Given the description of an element on the screen output the (x, y) to click on. 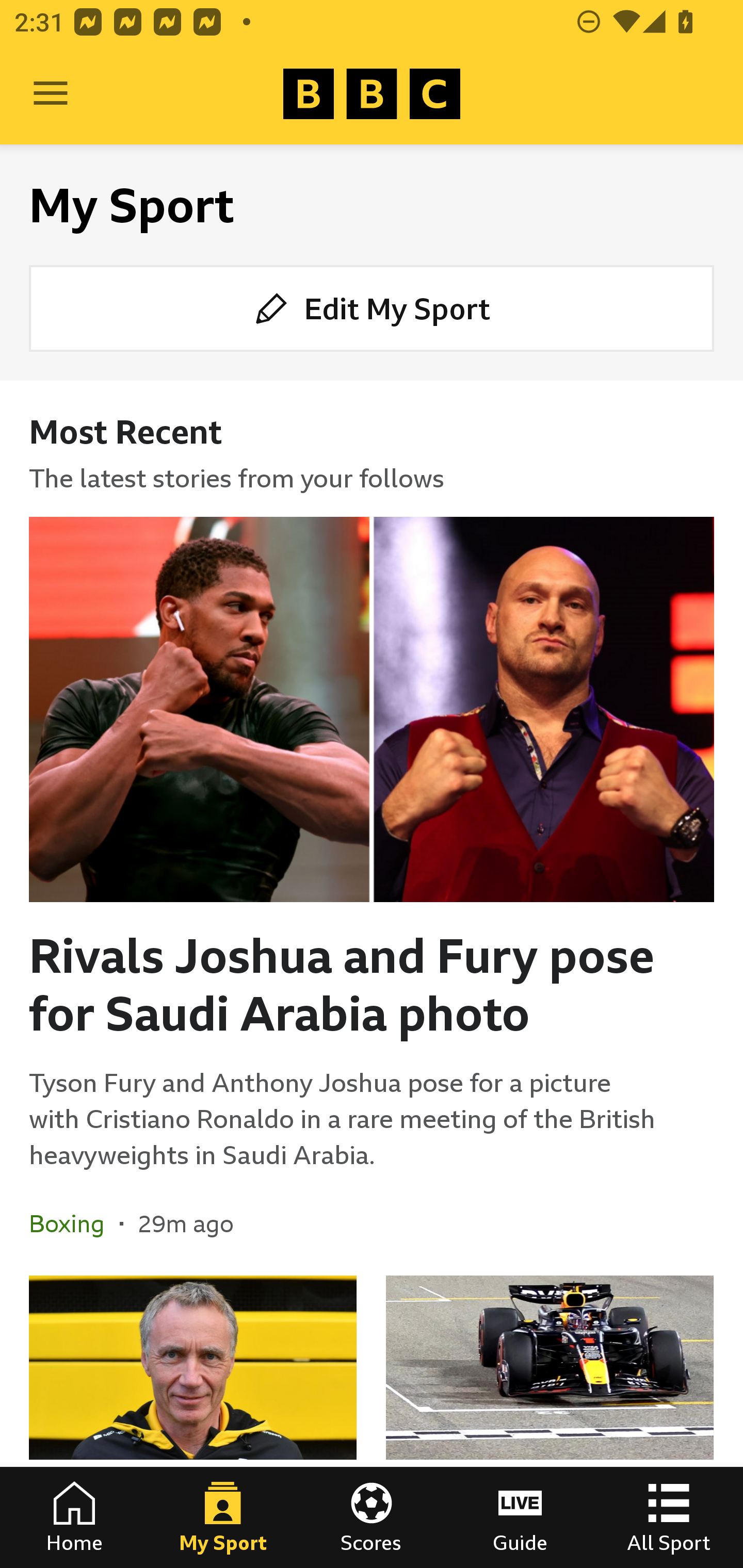
Open Menu (50, 93)
Edit My Sport (371, 307)
Engineer Bell leaves struggling Alpine (192, 1421)
Home (74, 1517)
Scores (371, 1517)
Guide (519, 1517)
All Sport (668, 1517)
